Given the description of an element on the screen output the (x, y) to click on. 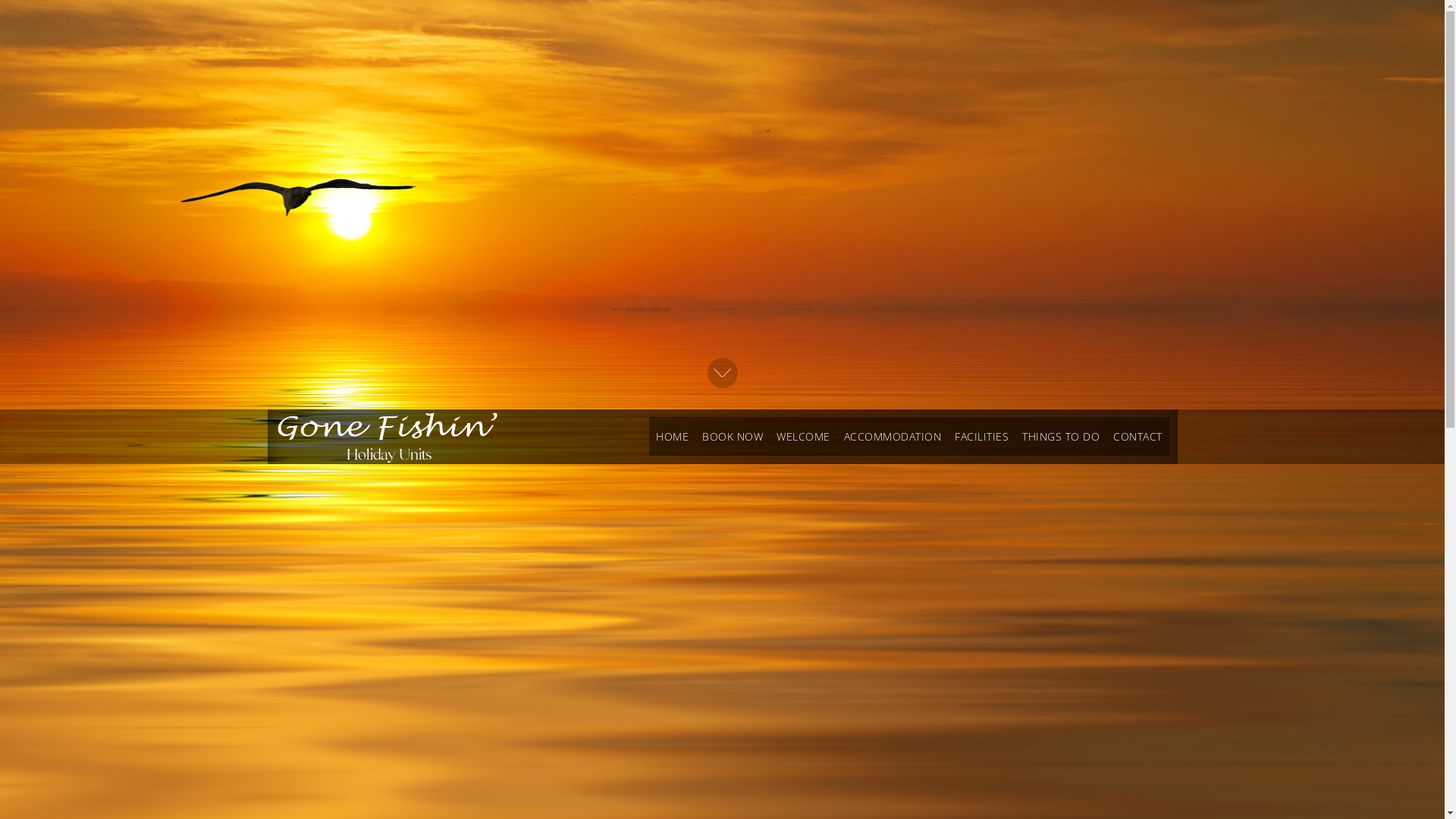
HOME Element type: text (672, 436)
WELCOME Element type: text (803, 436)
FACILITIES Element type: text (981, 436)
BOOK NOW Element type: text (732, 436)
ACCOMMODATION Element type: text (892, 436)
CONTACT Element type: text (1137, 436)
THINGS TO DO Element type: text (1060, 436)
